Given the description of an element on the screen output the (x, y) to click on. 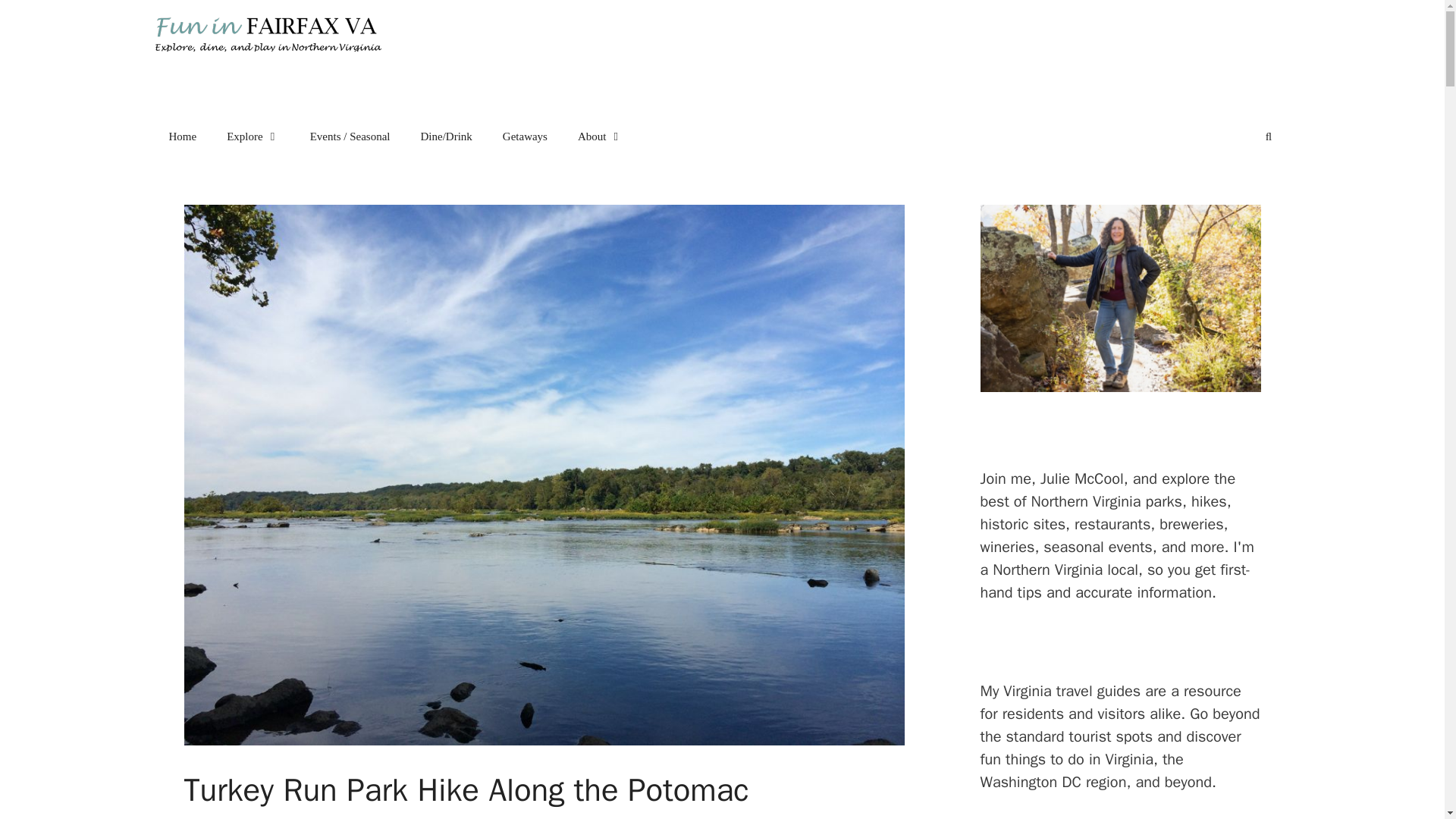
Getaways (524, 135)
About (600, 135)
Explore (252, 135)
Home (181, 135)
